Given the description of an element on the screen output the (x, y) to click on. 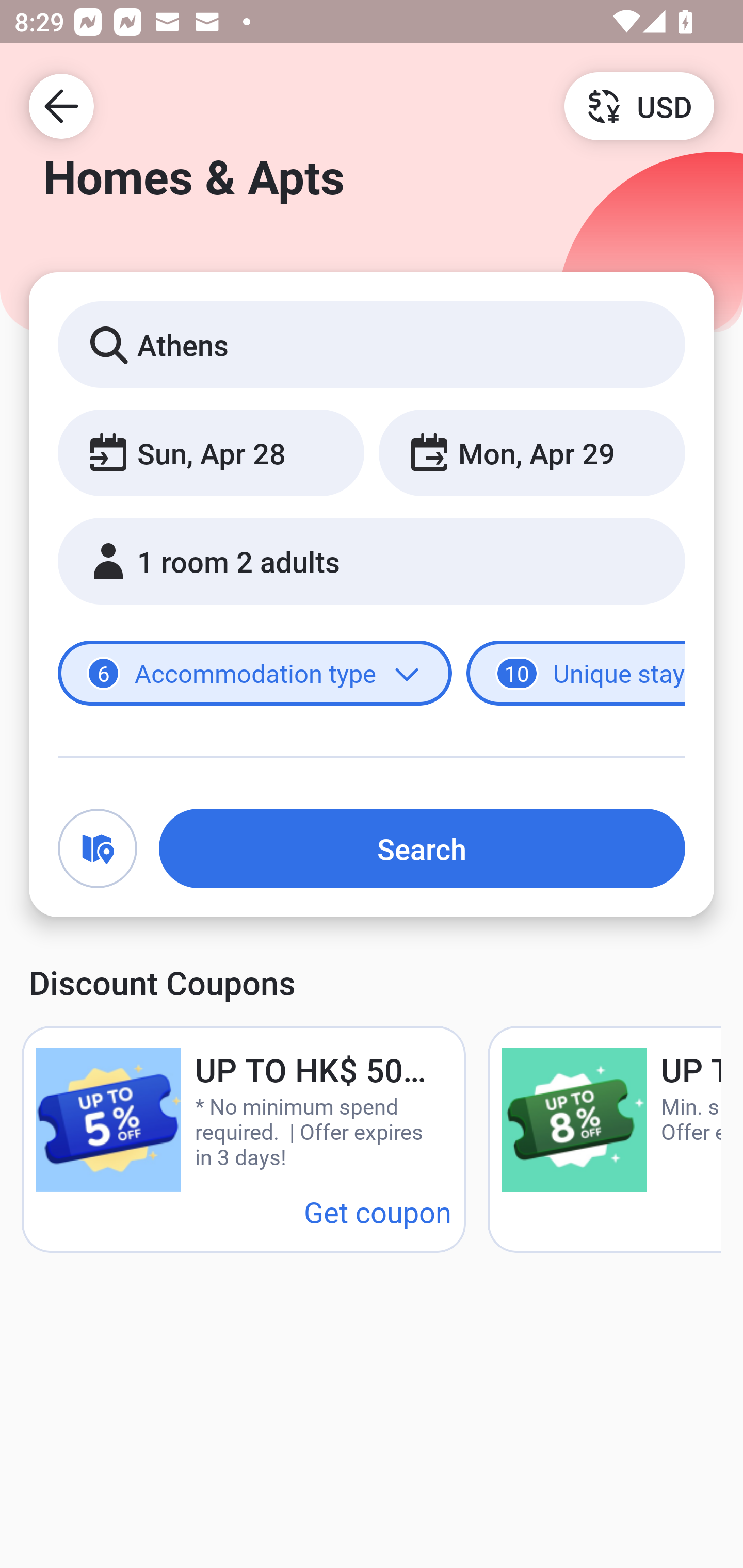
USD (639, 105)
Athens (371, 344)
Sun, Apr 28 (210, 452)
Mon, Apr 29 (531, 452)
1 room 2 adults (371, 561)
6 Accommodation type (254, 673)
10 Unique stays (575, 673)
Search (422, 848)
Get coupon (377, 1211)
